Given the description of an element on the screen output the (x, y) to click on. 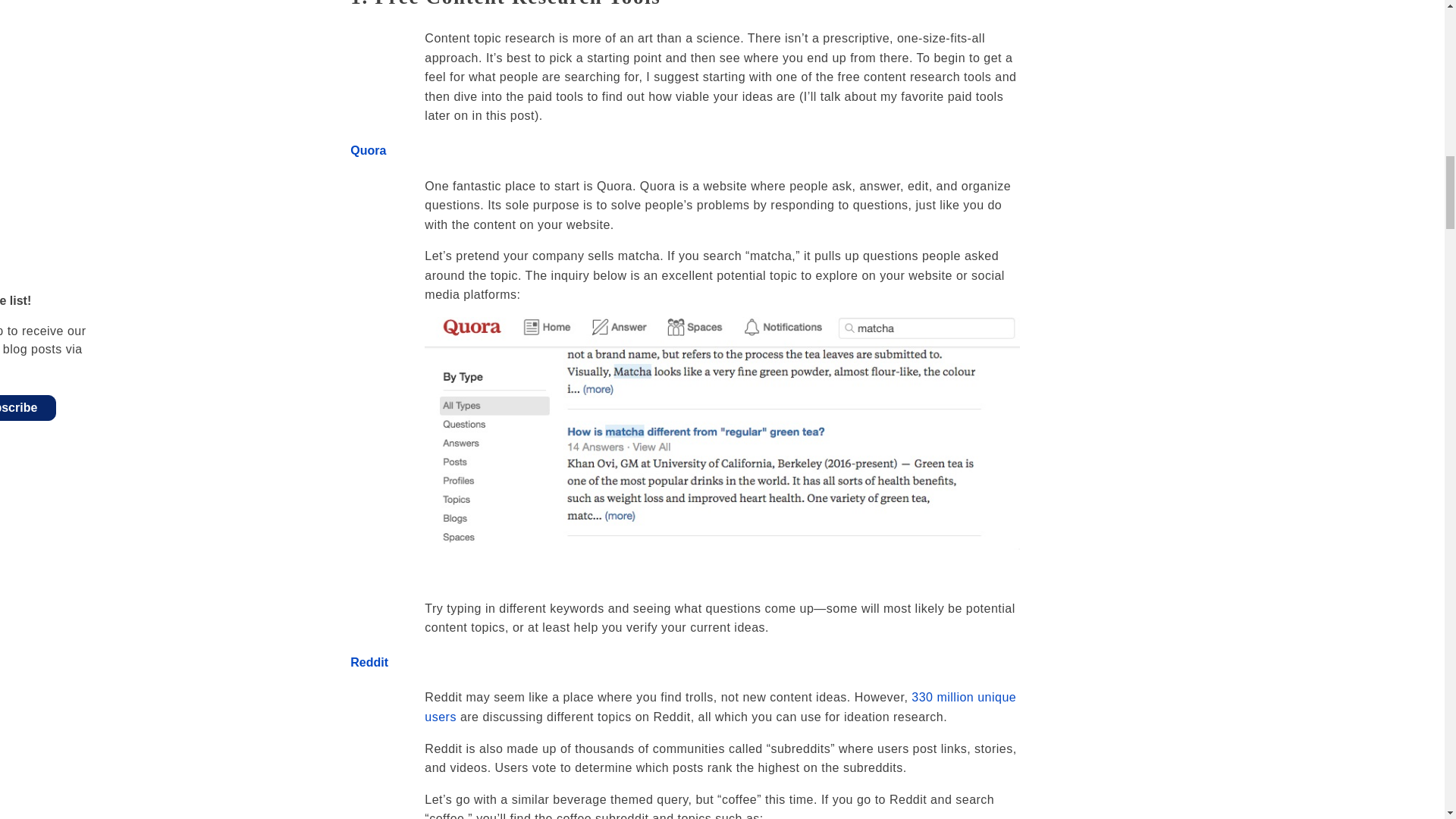
330 million unique users (720, 707)
Reddit (369, 662)
Quora (367, 150)
